Given the description of an element on the screen output the (x, y) to click on. 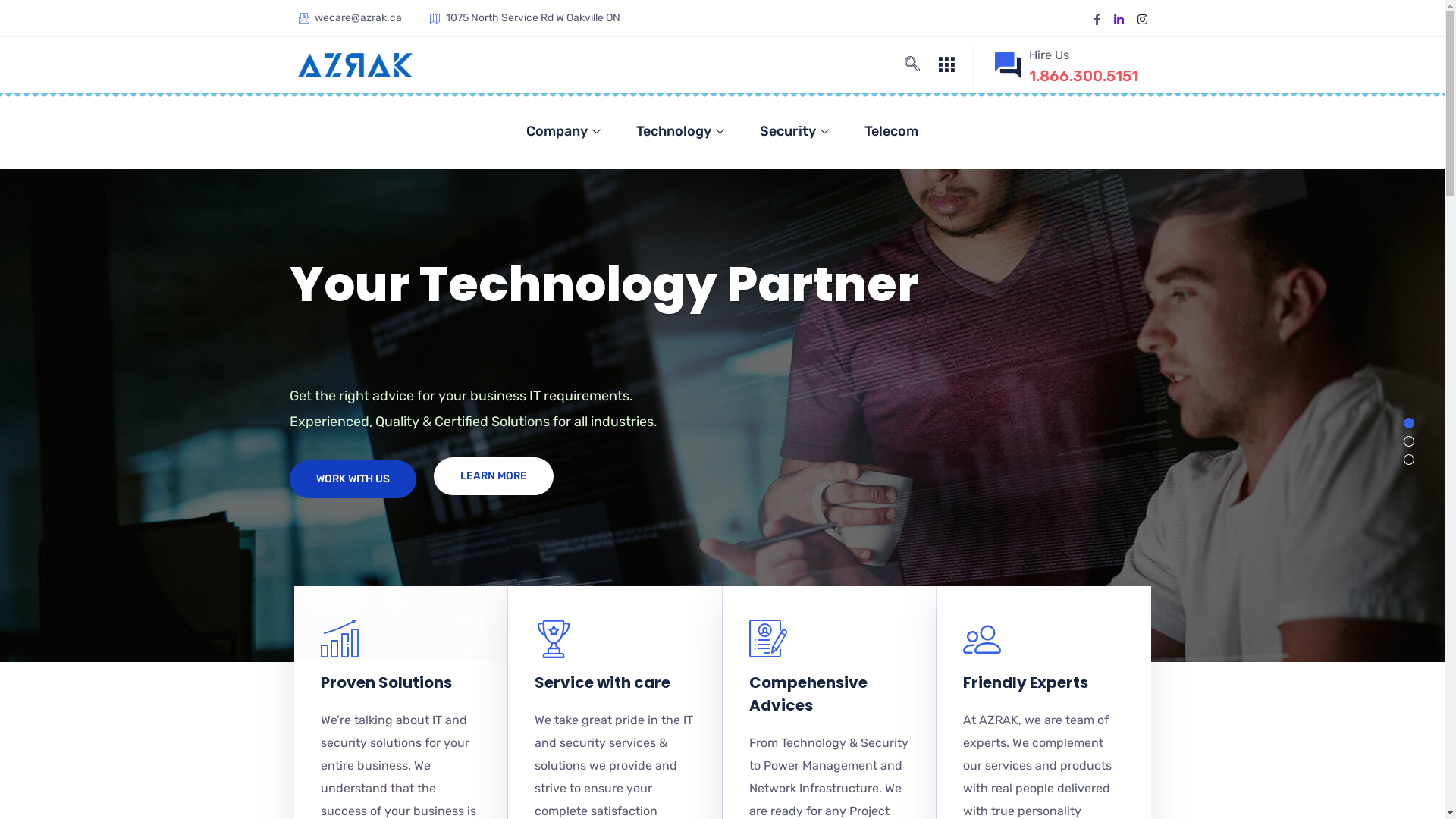
Security Element type: text (795, 130)
1.866.300.5151 Element type: text (1083, 75)
WORK WITH US Element type: text (352, 479)
Technology Element type: text (681, 130)
Telecom Element type: text (891, 130)
Company Element type: text (565, 130)
wecare@azrak.ca Element type: text (349, 18)
